Given the description of an element on the screen output the (x, y) to click on. 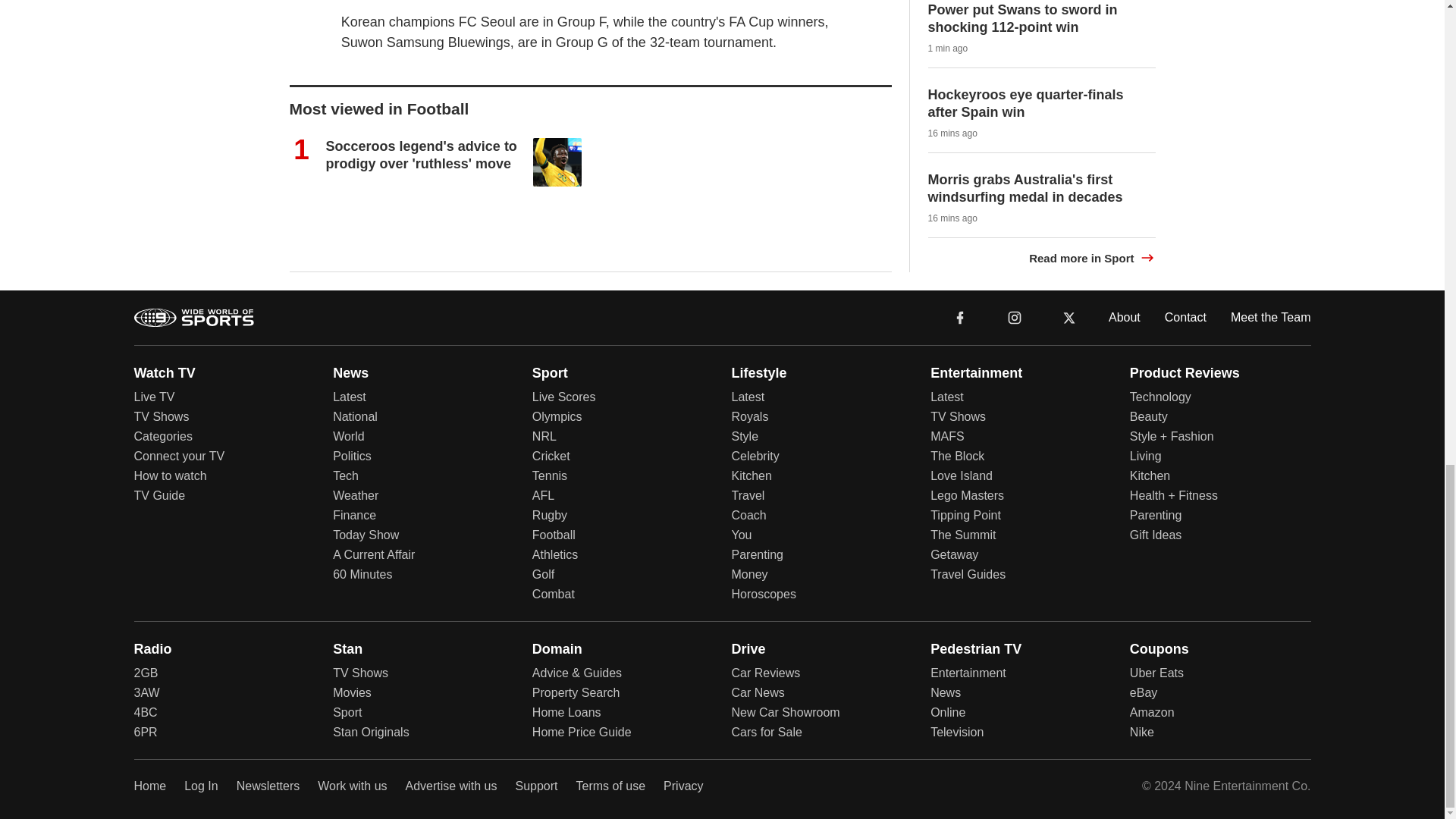
Meet the Team (1270, 316)
instagram (1014, 317)
Live TV (153, 396)
instagram (1013, 316)
facebook (960, 317)
facebook (959, 316)
x (1069, 316)
x (1069, 316)
TV Shows (161, 416)
Watch TV (164, 372)
x (1069, 317)
Contact (1185, 316)
About (1124, 316)
Socceroos legend's advice to prodigy over 'ruthless' move (421, 154)
instagram (1013, 316)
